Given the description of an element on the screen output the (x, y) to click on. 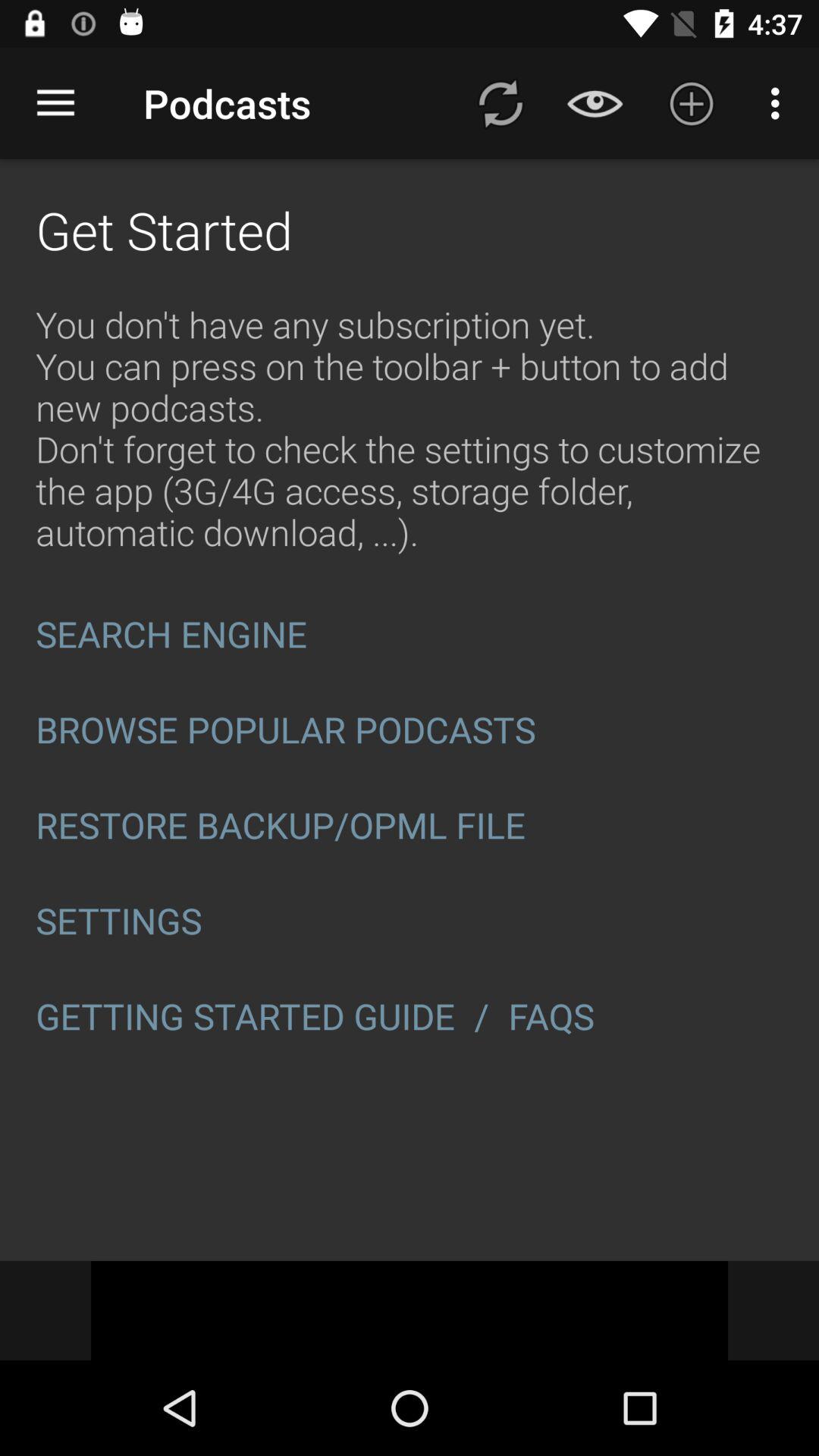
launch the item below getting started guide (409, 1310)
